Given the description of an element on the screen output the (x, y) to click on. 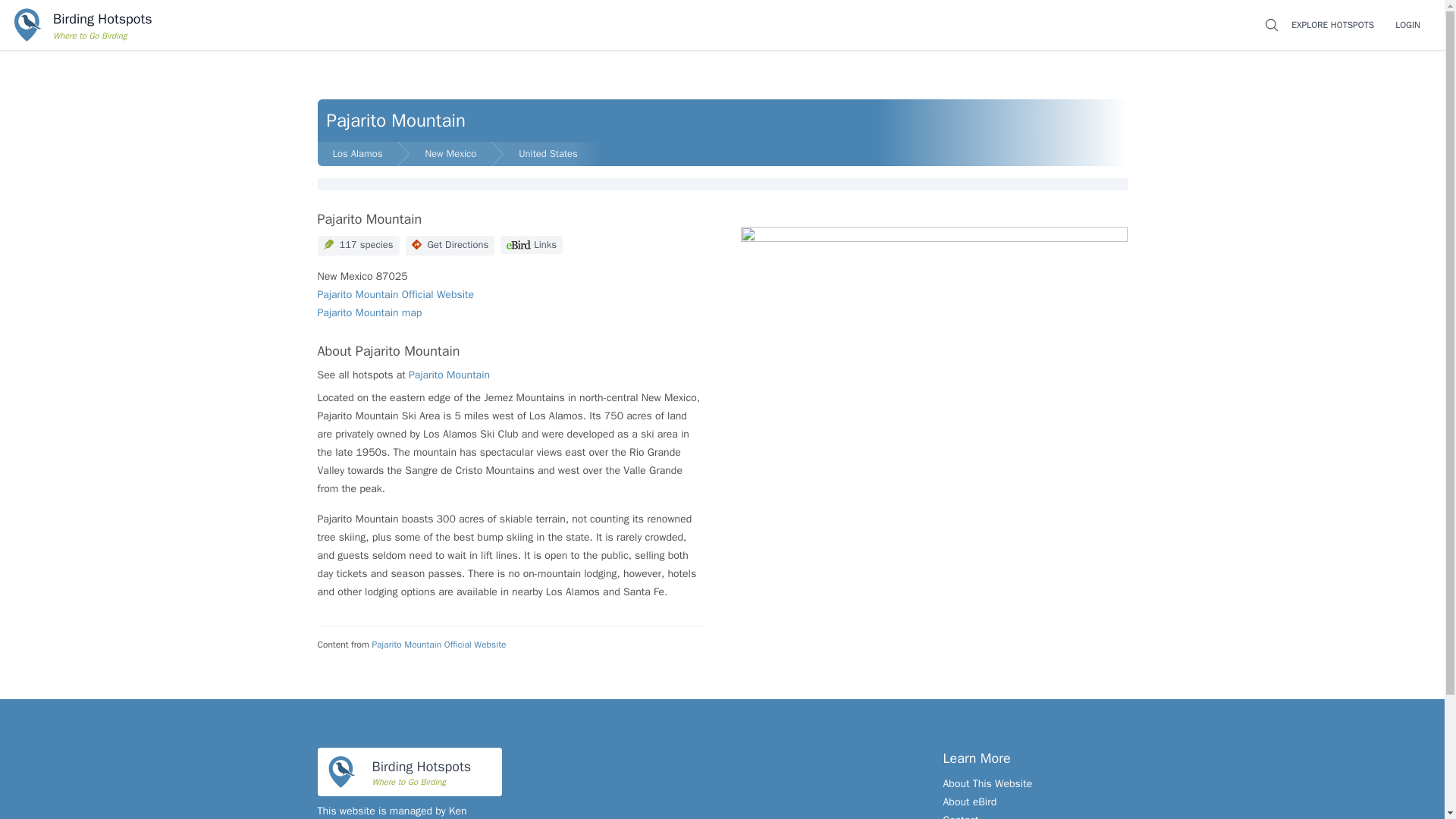
Los Alamos (357, 153)
Pajarito Mountain map (369, 312)
About eBird (970, 801)
Pajarito Mountain Official Website (438, 644)
About This Website (987, 783)
United States (552, 153)
New Mexico (450, 153)
Links (531, 244)
Pajarito Mountain Official Website (395, 294)
